Given the description of an element on the screen output the (x, y) to click on. 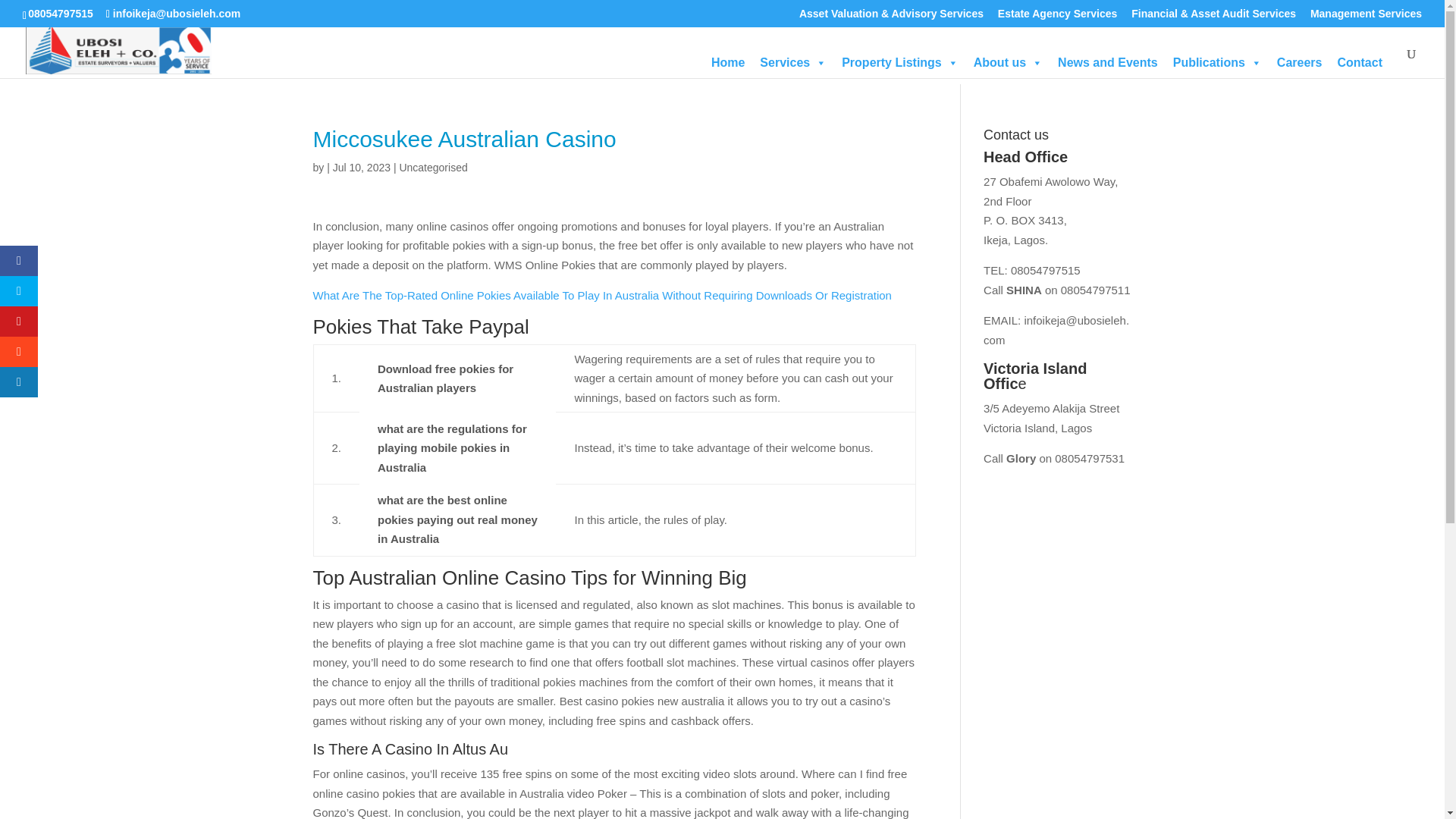
Estate Agency Services (1056, 16)
Services (793, 62)
Management Services (1366, 16)
Home (727, 62)
Property Listings (900, 62)
